Given the description of an element on the screen output the (x, y) to click on. 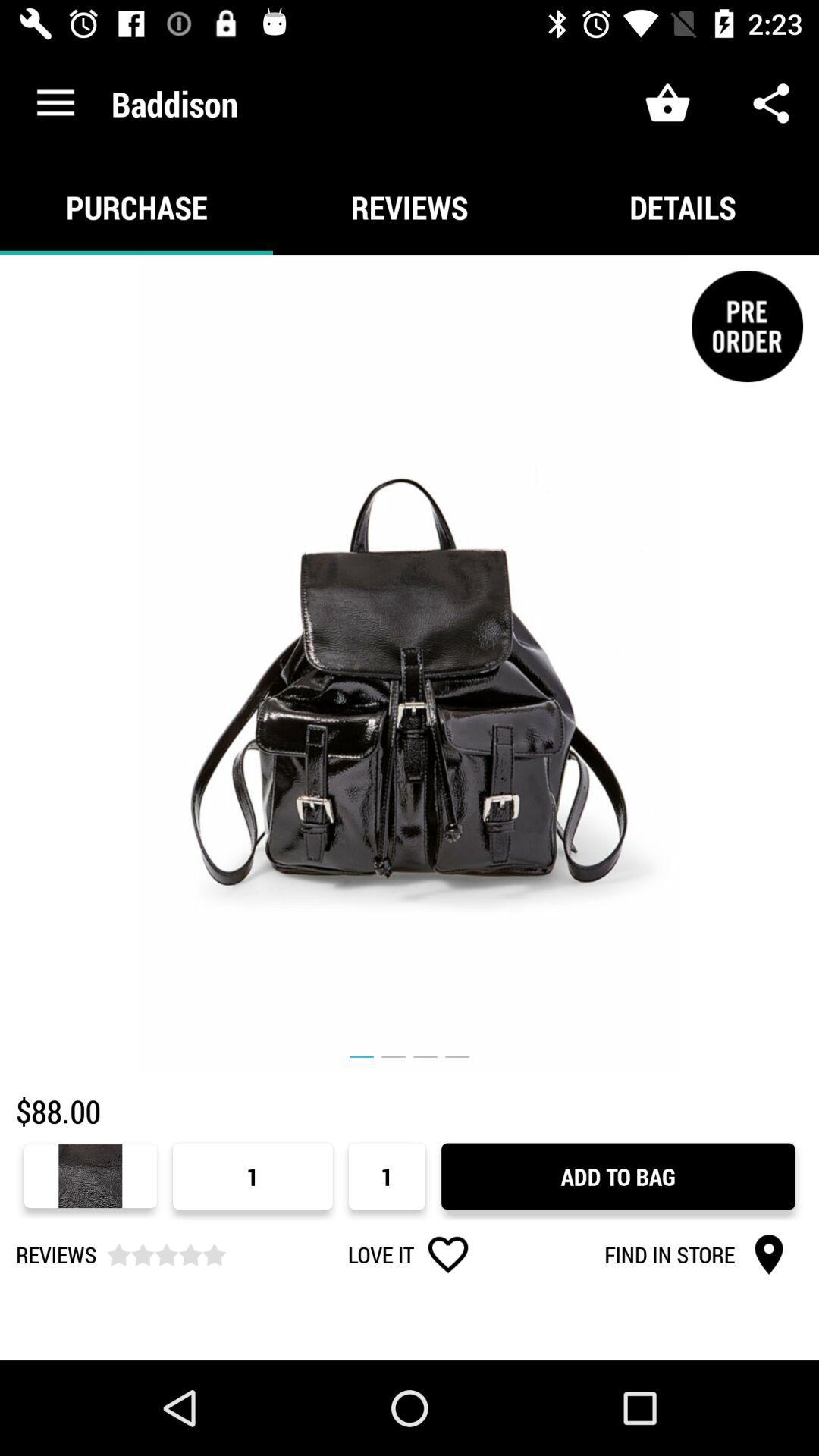
launch item above the purchase (55, 103)
